Given the description of an element on the screen output the (x, y) to click on. 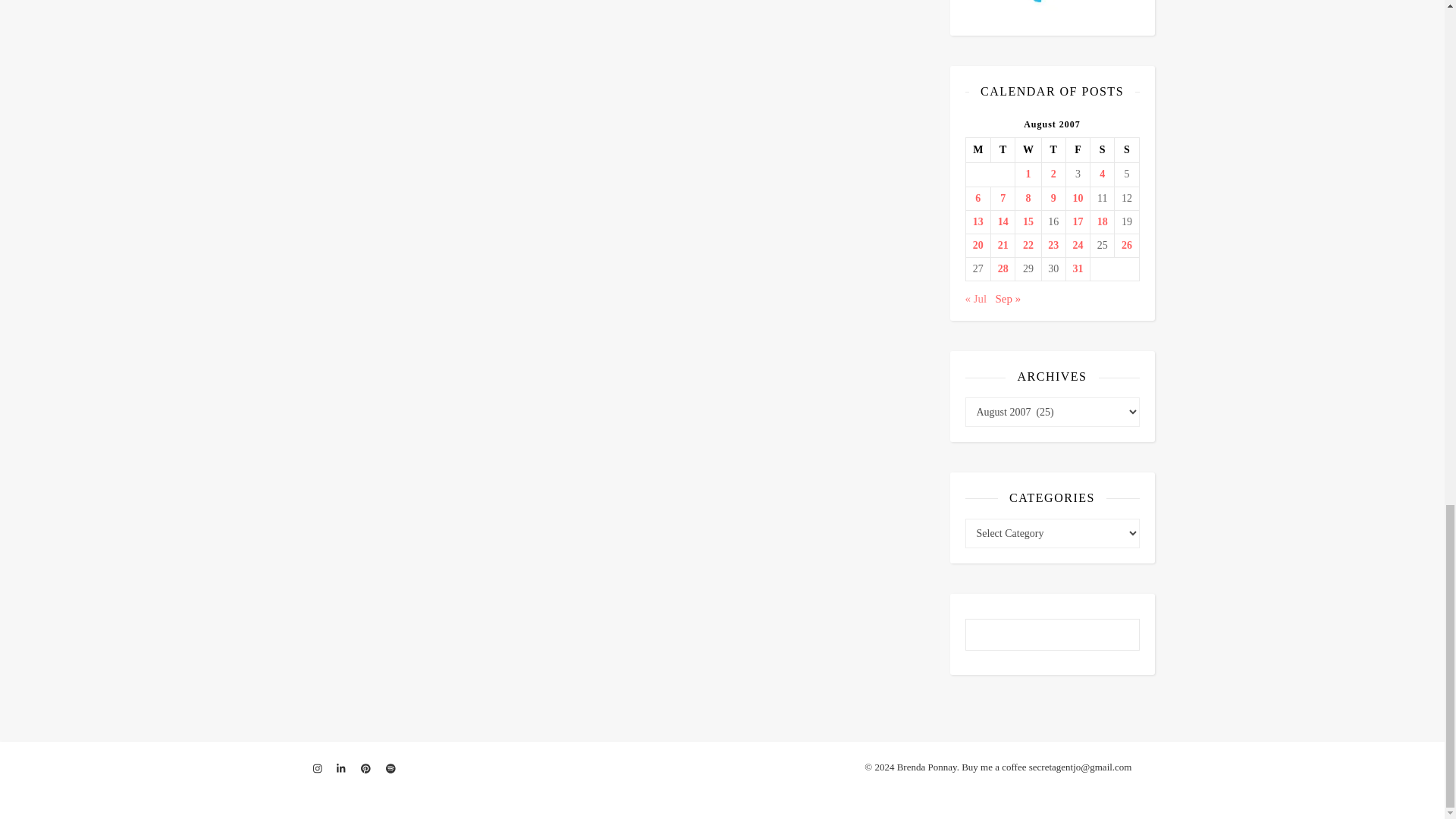
2 (1052, 174)
Saturday (1102, 150)
Wednesday (1027, 150)
Friday (1077, 150)
7 (1002, 198)
13 (978, 222)
6 (978, 198)
Thursday (1053, 150)
10 (1077, 198)
4 (1102, 174)
Monday (978, 150)
Sunday (1126, 150)
1 (1027, 174)
9 (1052, 198)
8 (1027, 198)
